Given the description of an element on the screen output the (x, y) to click on. 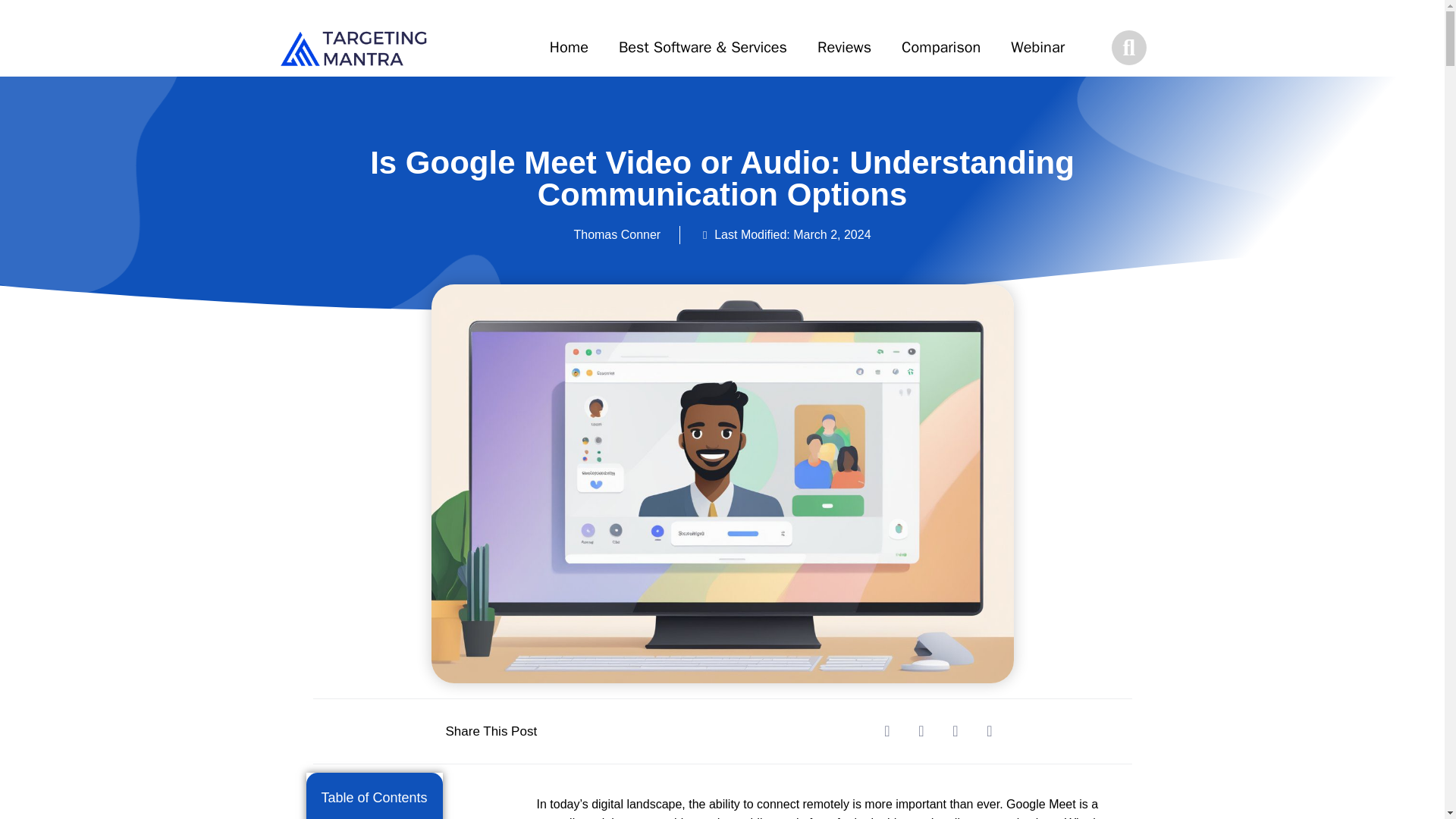
Home (569, 47)
Reviews (844, 47)
Thomas Conner (617, 235)
Webinar (1037, 47)
Comparison (940, 47)
